Given the description of an element on the screen output the (x, y) to click on. 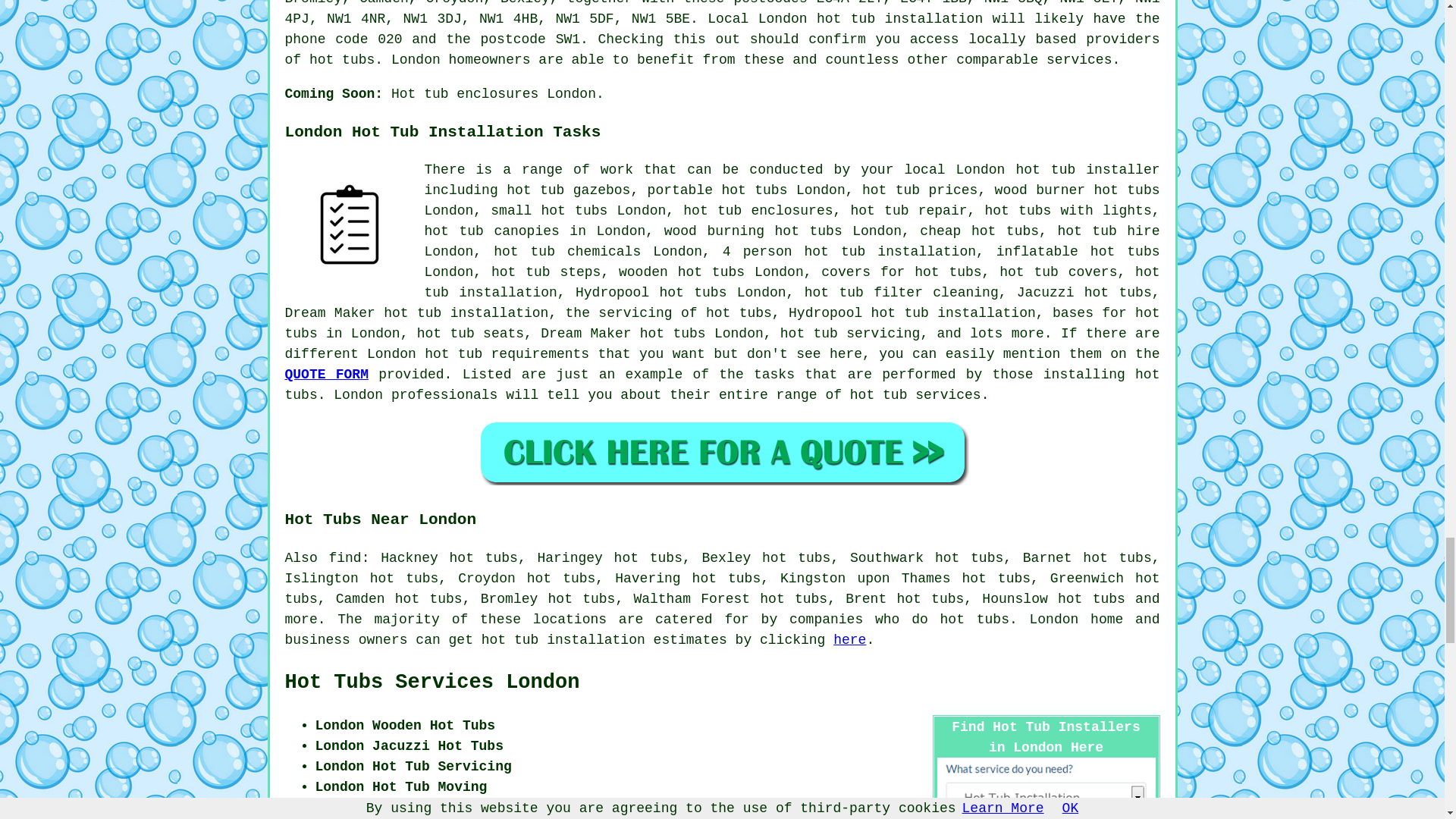
Hot Tub Installation Tasks London (349, 224)
LONDON HOT TUBS QUOTES (722, 452)
wood burner hot tubs (1077, 190)
